Given the description of an element on the screen output the (x, y) to click on. 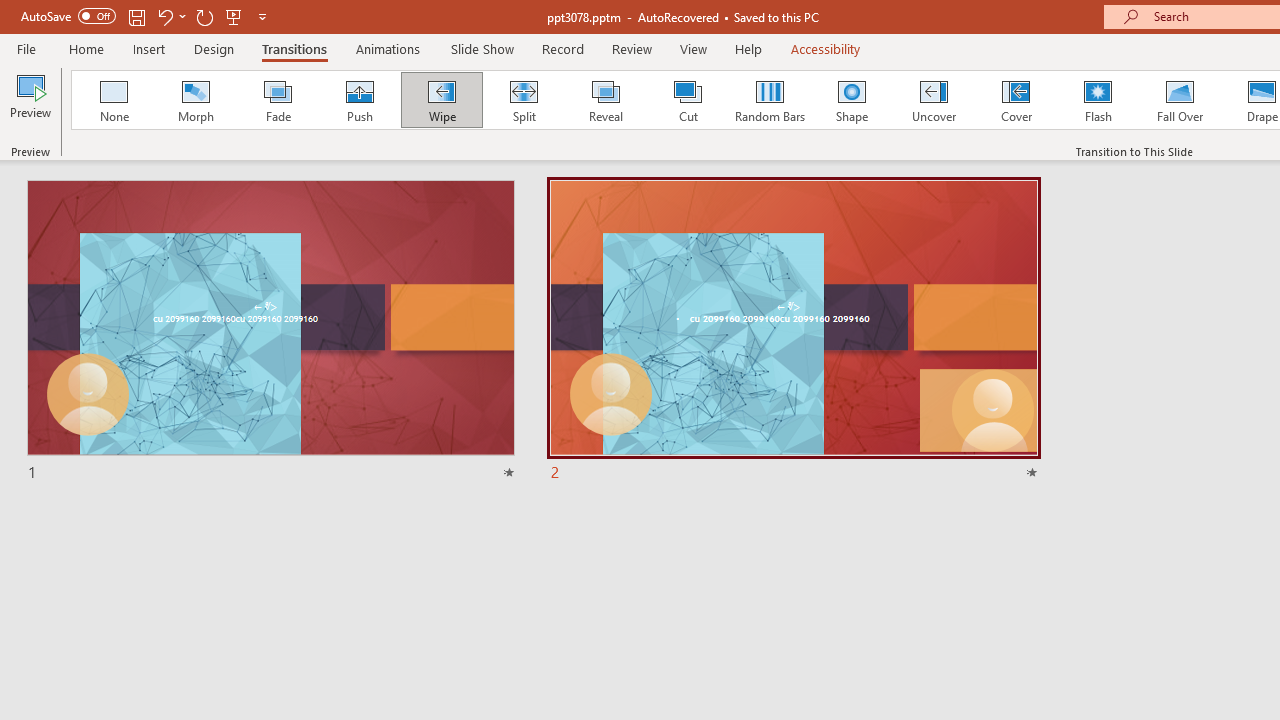
Cover (1016, 100)
